Given the description of an element on the screen output the (x, y) to click on. 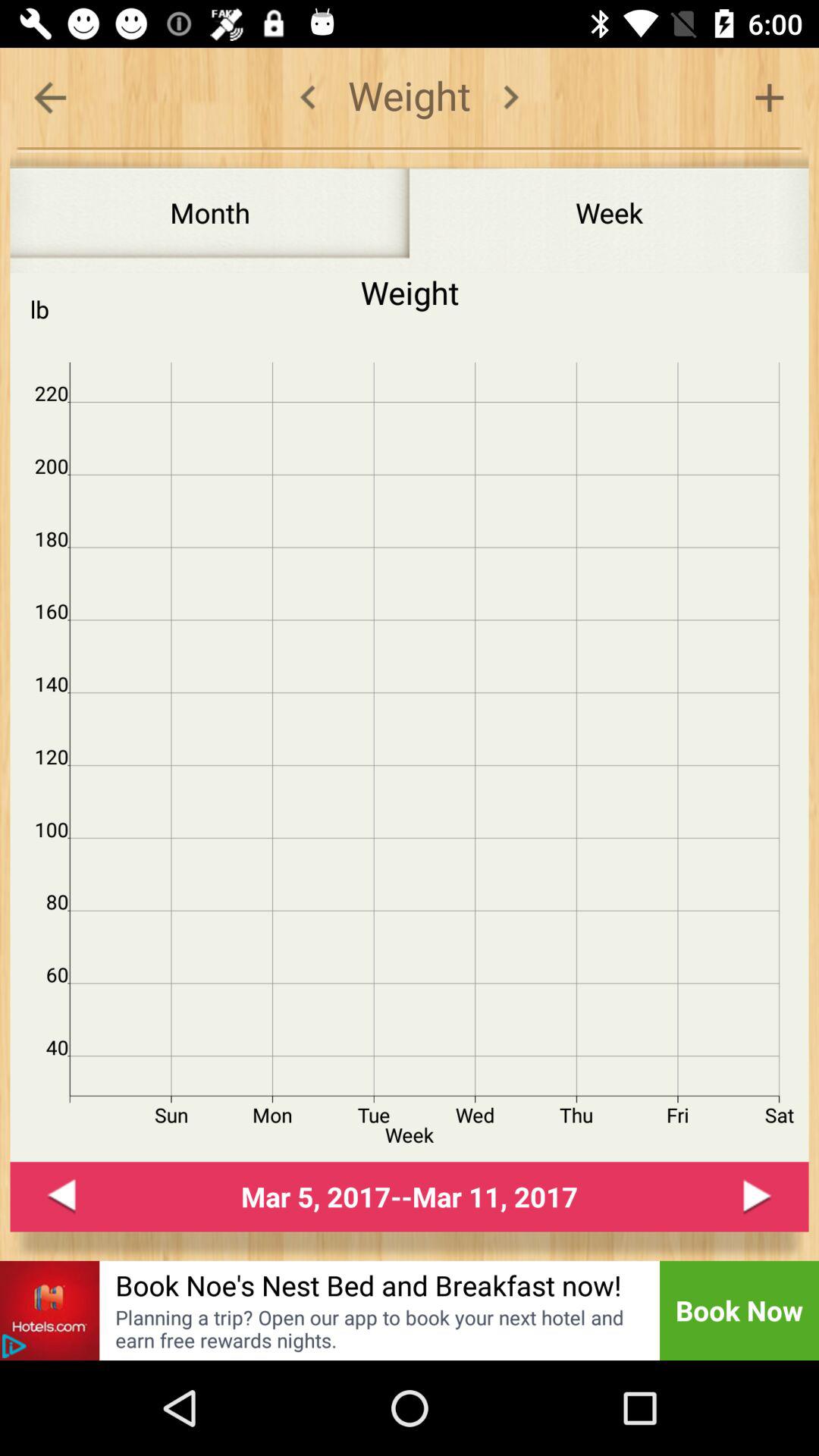
change menu (510, 97)
